Given the description of an element on the screen output the (x, y) to click on. 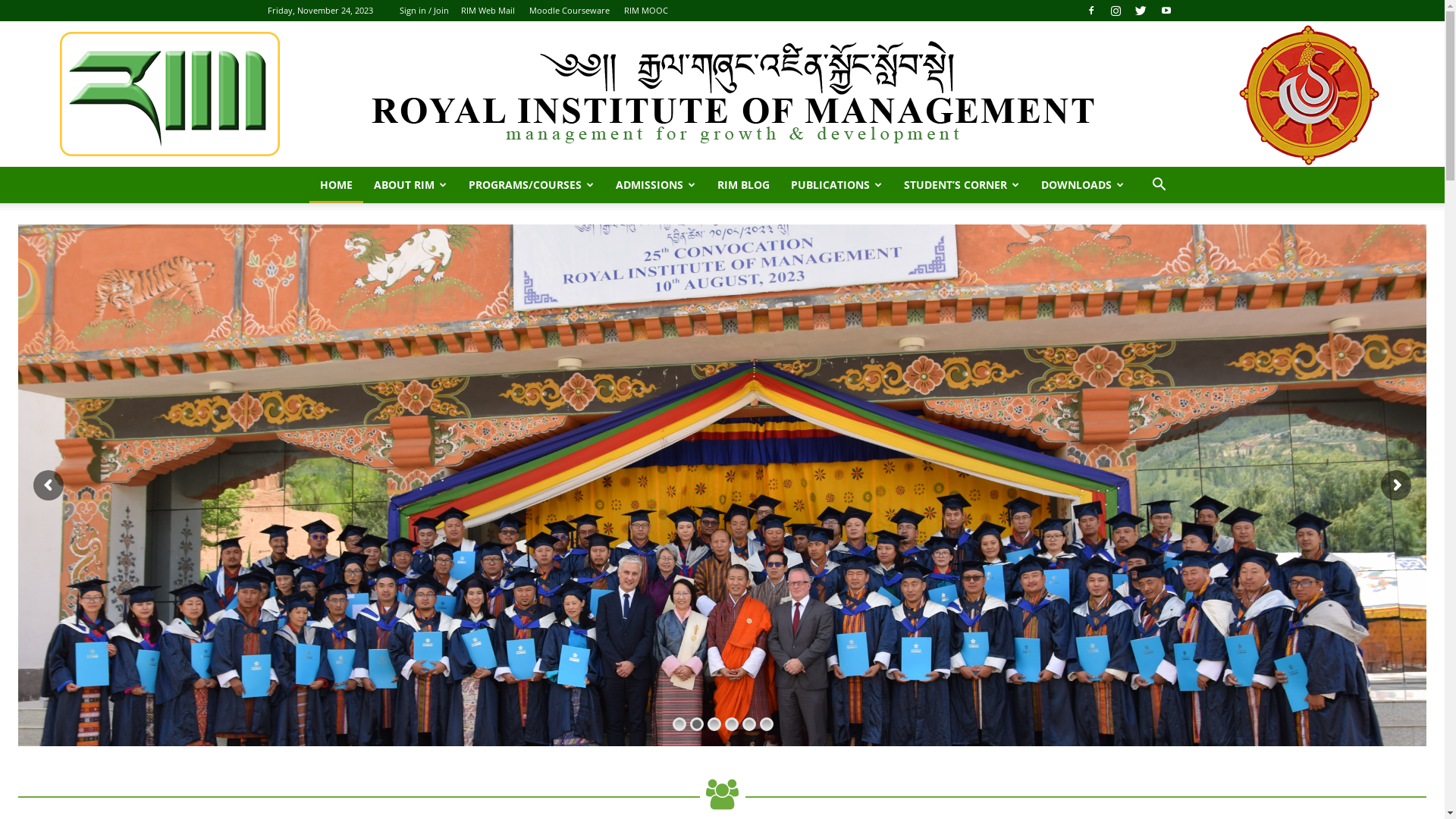
Instagram Element type: hover (1115, 10)
Royal Institute of Management Element type: text (722, 93)
ADMISSIONS Element type: text (655, 184)
Twitter Element type: hover (1140, 10)
Management for Growth and Development Element type: hover (722, 93)
DOWNLOADS Element type: text (1082, 184)
Facebook Element type: hover (1090, 10)
Moodle Courseware Element type: text (569, 9)
RIM Web Mail Element type: text (487, 9)
RIM BLOG Element type: text (743, 184)
PUBLICATIONS Element type: text (836, 184)
Youtube Element type: hover (1165, 10)
Search Element type: text (1135, 245)
HOME Element type: text (336, 184)
PROGRAMS/COURSES Element type: text (531, 184)
RIM MOOC Element type: text (645, 9)
ABOUT RIM Element type: text (410, 184)
Sign in / Join Element type: text (423, 9)
